Given the description of an element on the screen output the (x, y) to click on. 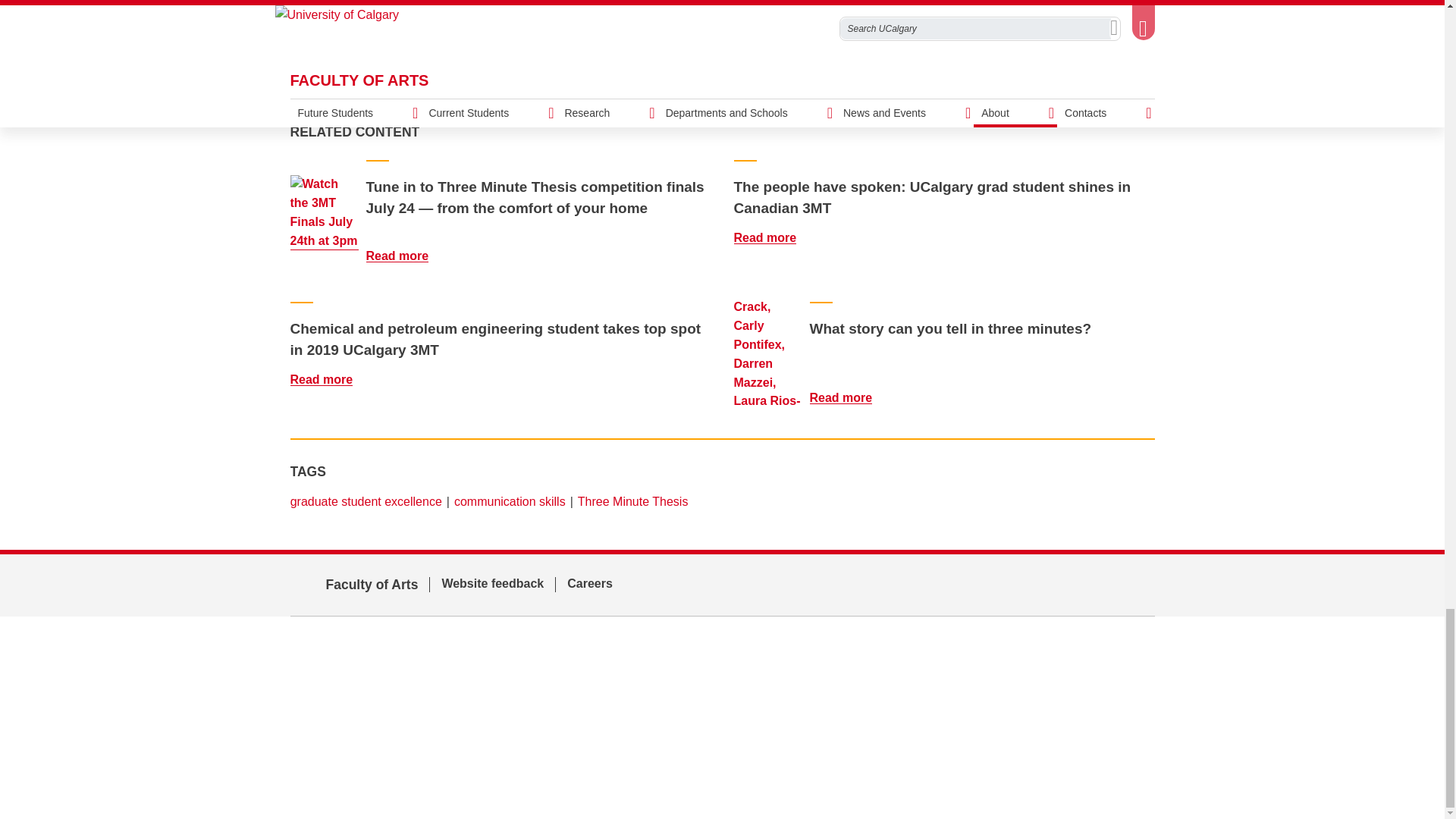
What story can you tell in three minutes? (850, 335)
